Given the description of an element on the screen output the (x, y) to click on. 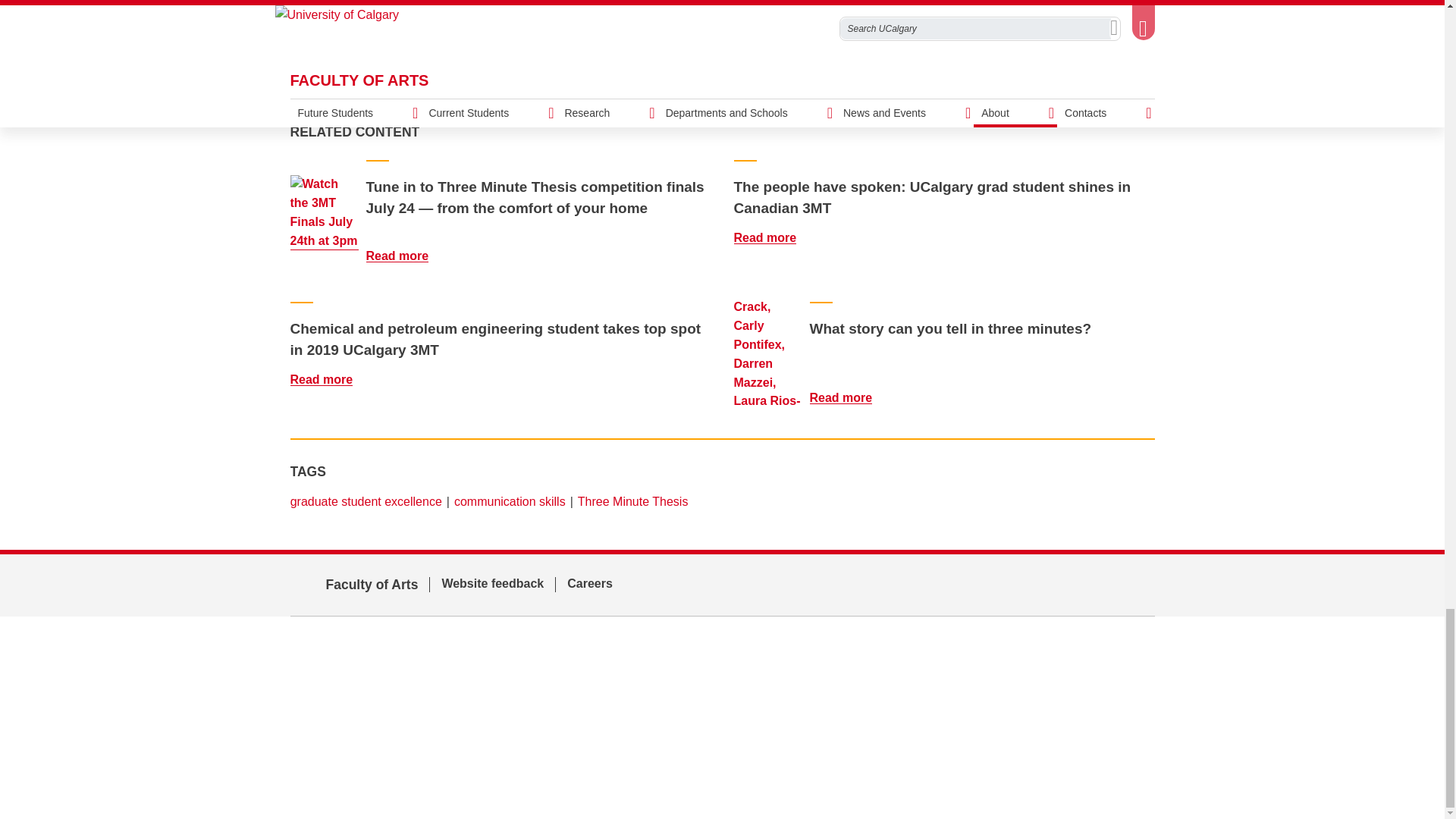
What story can you tell in three minutes? (850, 335)
